Given the description of an element on the screen output the (x, y) to click on. 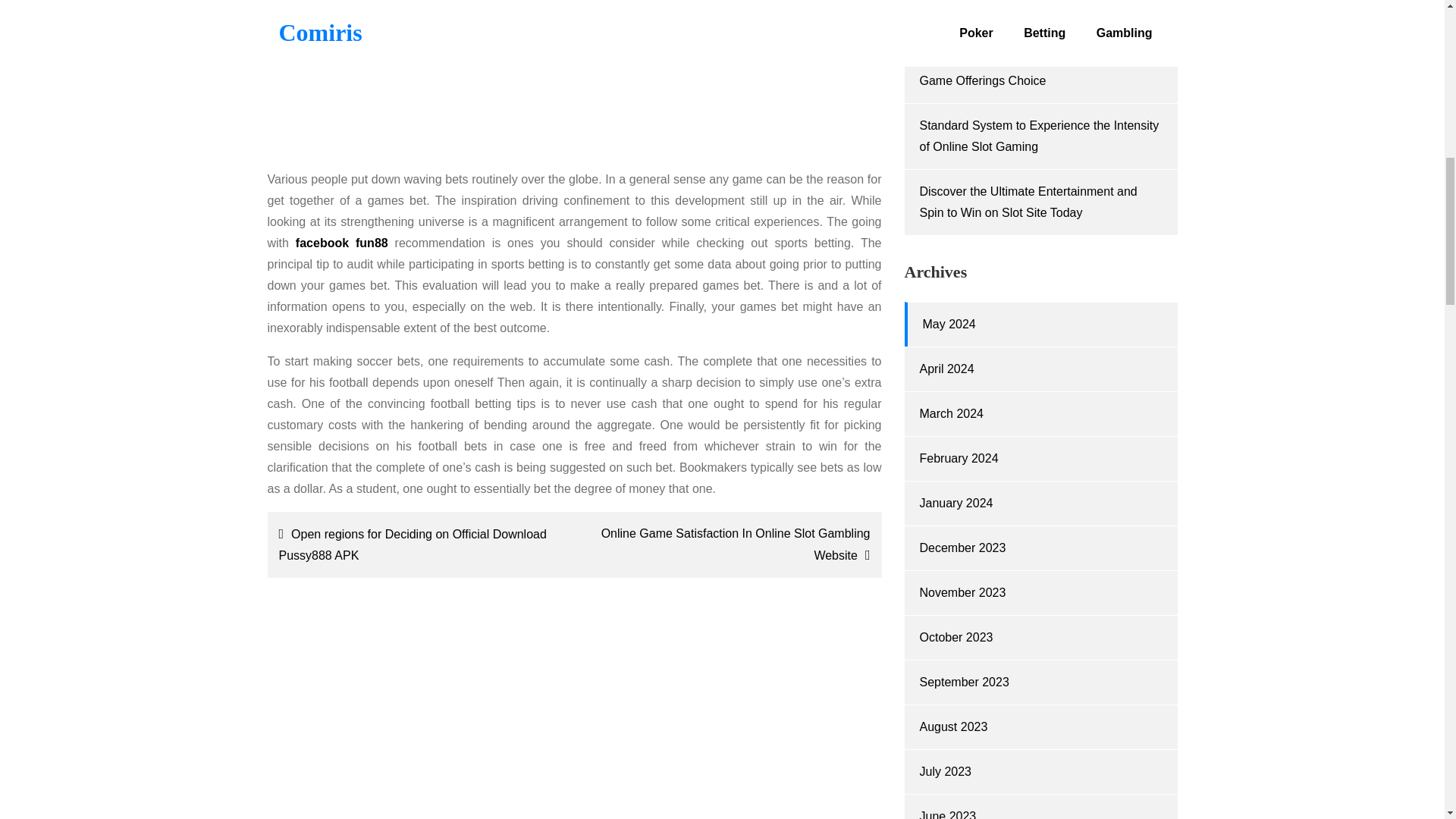
September 2023 (963, 681)
November 2023 (962, 592)
October 2023 (955, 636)
April 2024 (946, 368)
August 2023 (952, 726)
June 2023 (946, 814)
May 2024 (948, 323)
Open regions for Deciding on Official Download Pussy888 APK (417, 544)
July 2023 (944, 771)
January 2024 (955, 502)
Online Game Satisfaction In Online Slot Gambling Website (730, 544)
December 2023 (962, 547)
facebook fun88 (341, 242)
